Given the description of an element on the screen output the (x, y) to click on. 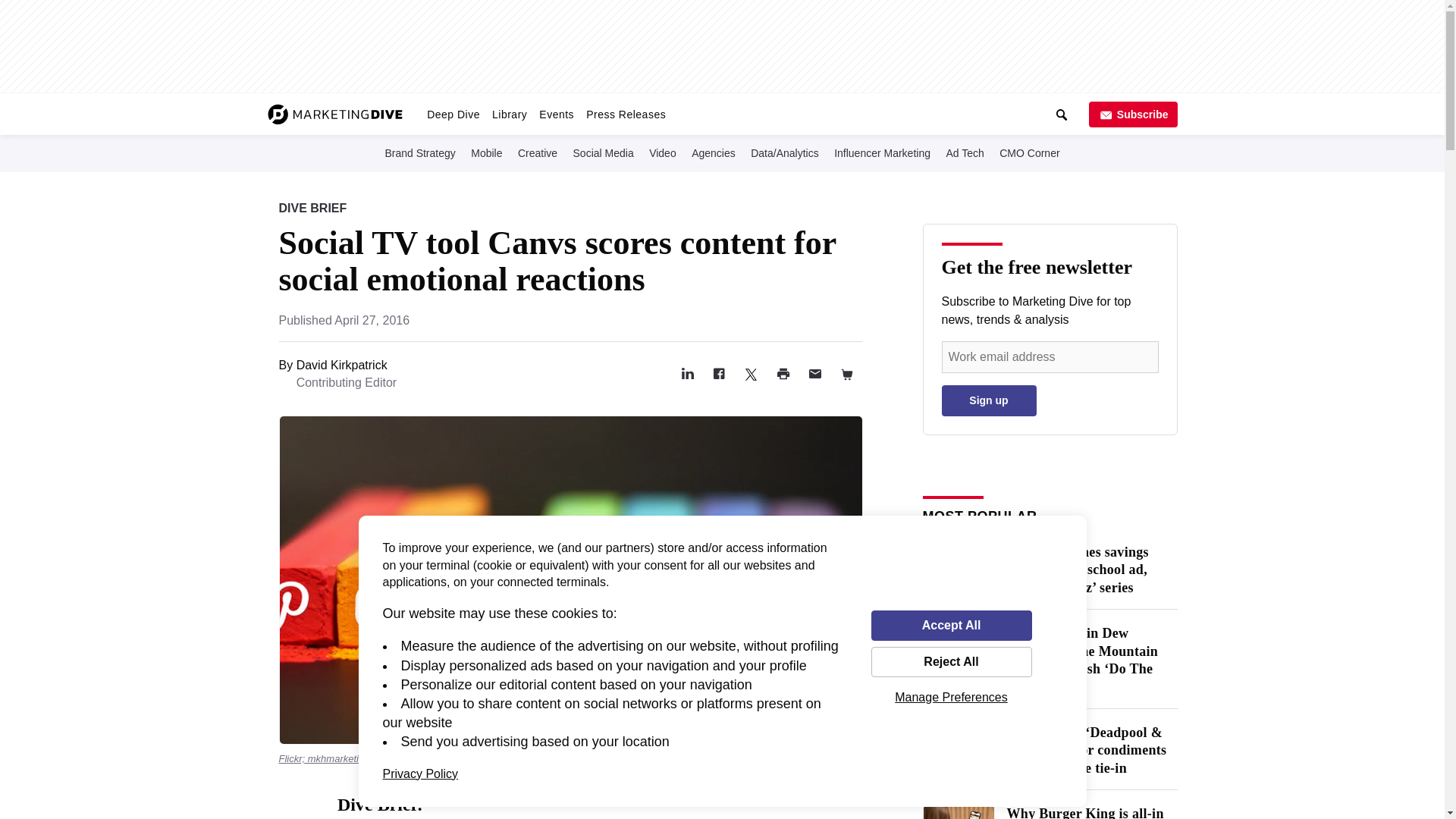
Influencer Marketing (882, 152)
CMO Corner (1028, 152)
Events (555, 114)
Mobile (486, 152)
Library (509, 114)
Press Releases (625, 114)
Brand Strategy (419, 152)
Deep Dive (453, 114)
Privacy Policy (419, 773)
Manage Preferences (950, 697)
Video (662, 152)
Accept All (950, 625)
Ad Tech (964, 152)
Subscribe (1132, 114)
Social Media (603, 152)
